Given the description of an element on the screen output the (x, y) to click on. 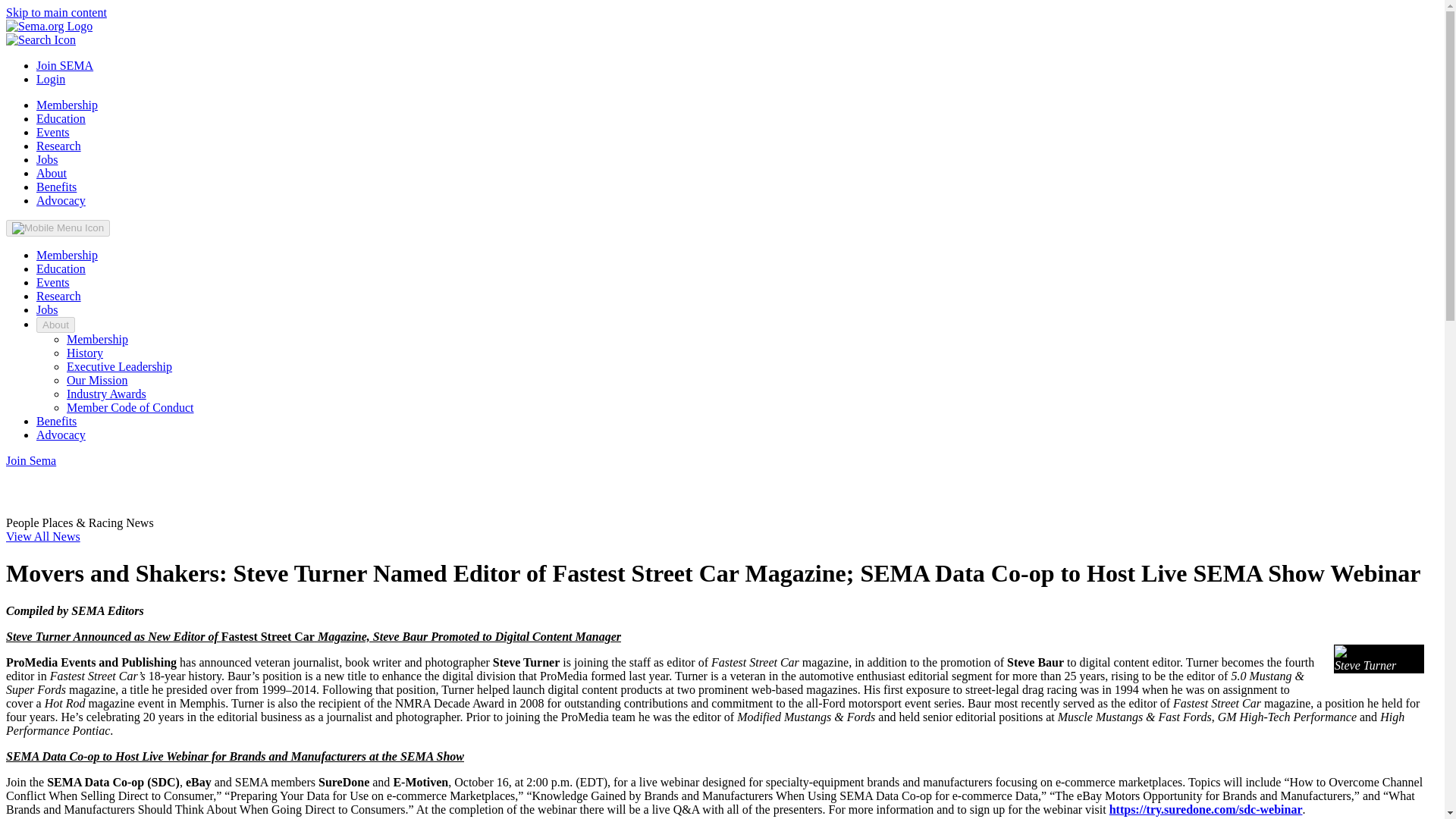
Jobs (47, 309)
Advocacy (60, 200)
View All News (42, 535)
Executive Leadership (118, 366)
Benefits (56, 420)
Membership (66, 104)
Research (58, 145)
Education (60, 268)
About (55, 324)
Login (50, 78)
